Given the description of an element on the screen output the (x, y) to click on. 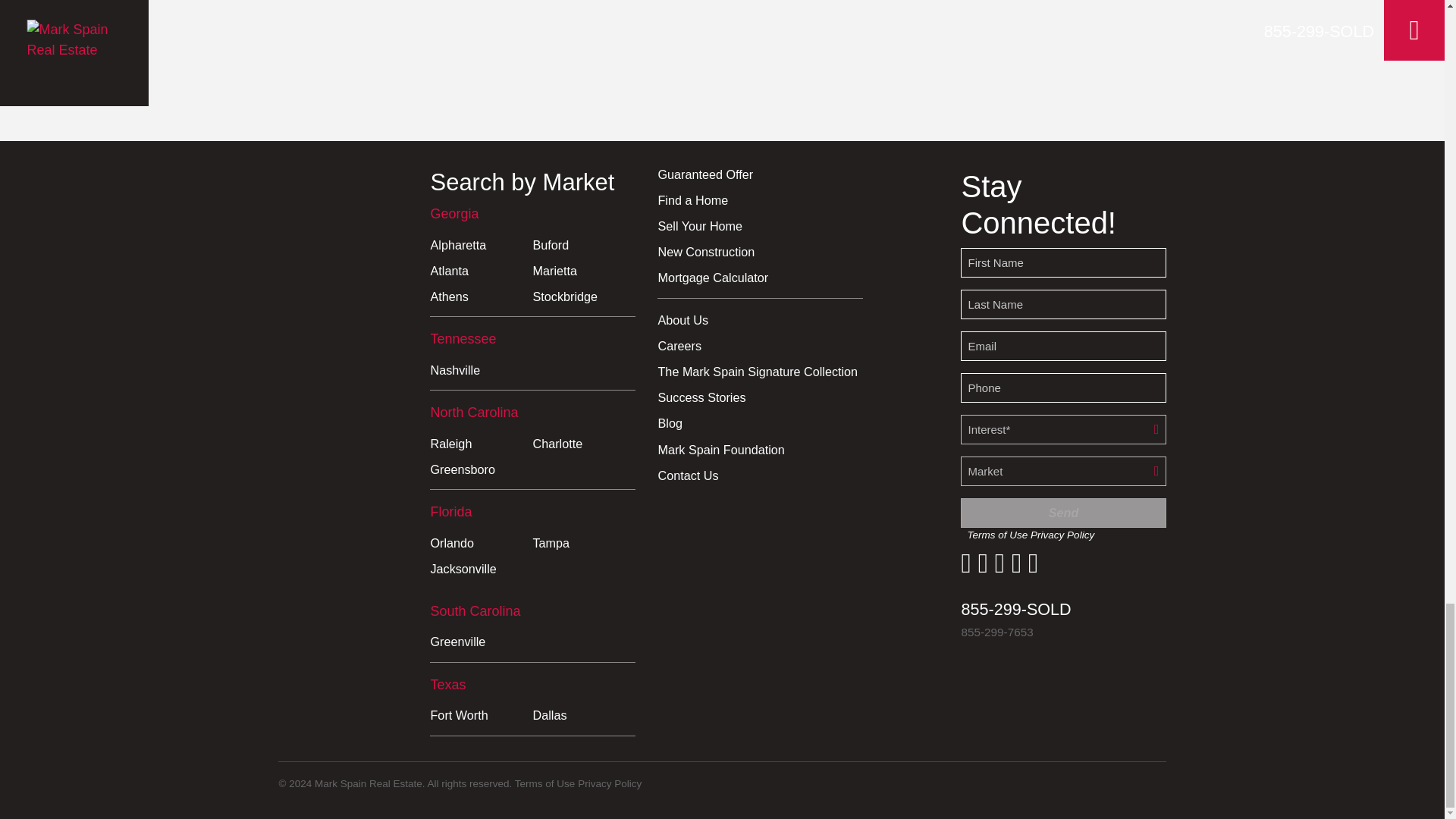
Privacy Policy (610, 783)
Privacy Policy (1062, 534)
Terms of Use (545, 783)
Send (1063, 512)
